Given the description of an element on the screen output the (x, y) to click on. 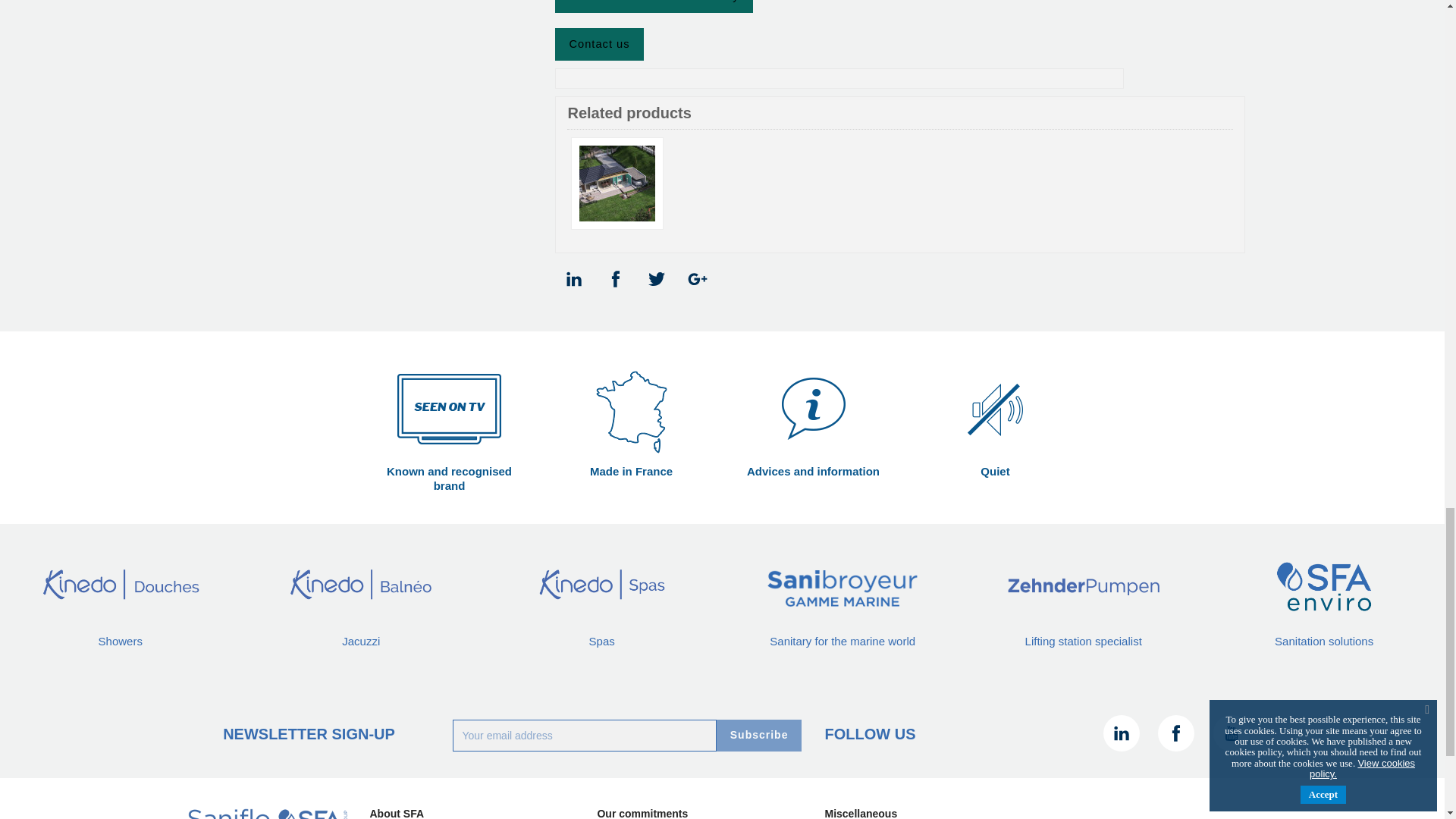
Subscribe (759, 735)
